Given the description of an element on the screen output the (x, y) to click on. 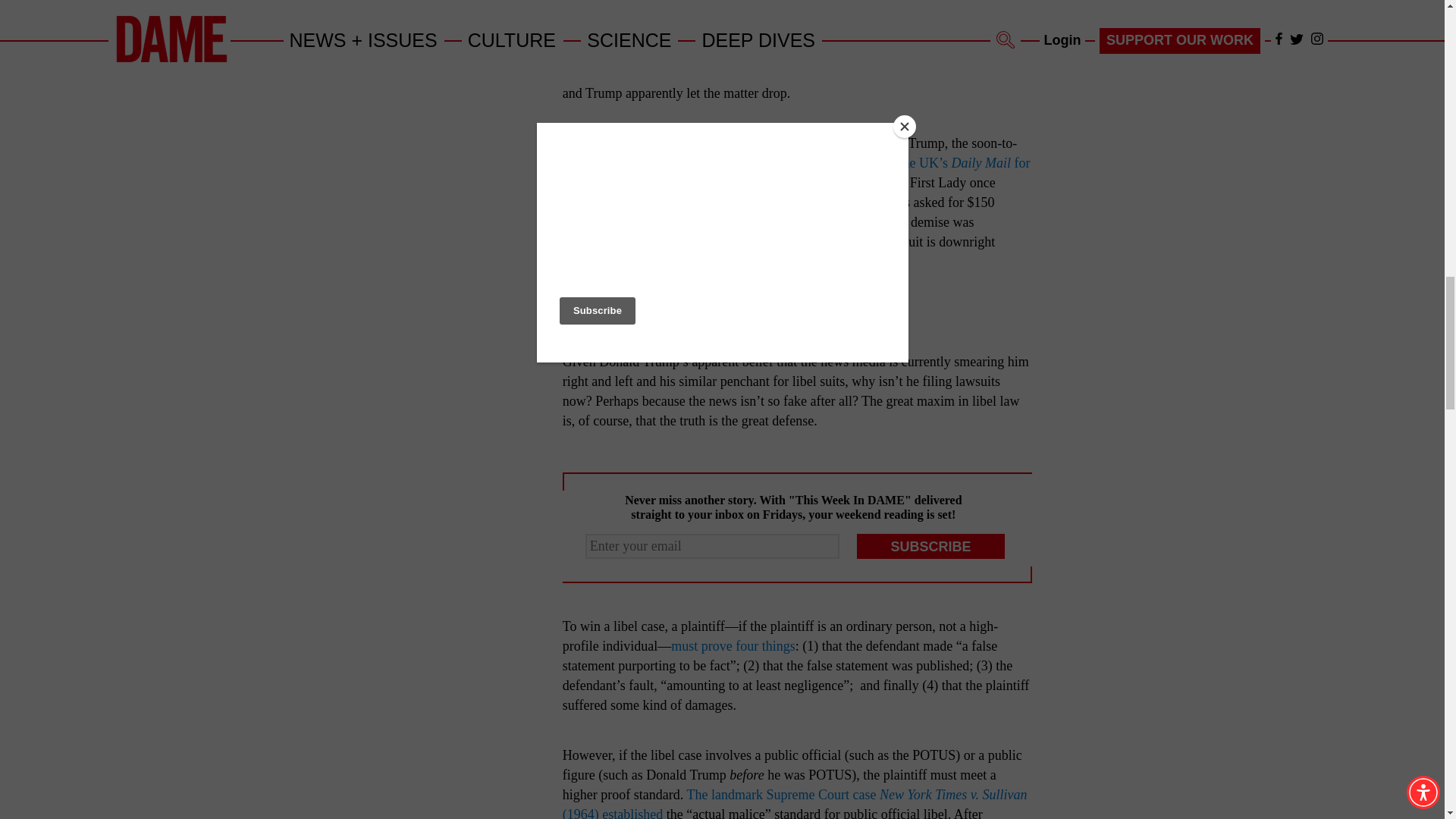
Subscribe (931, 545)
